Given the description of an element on the screen output the (x, y) to click on. 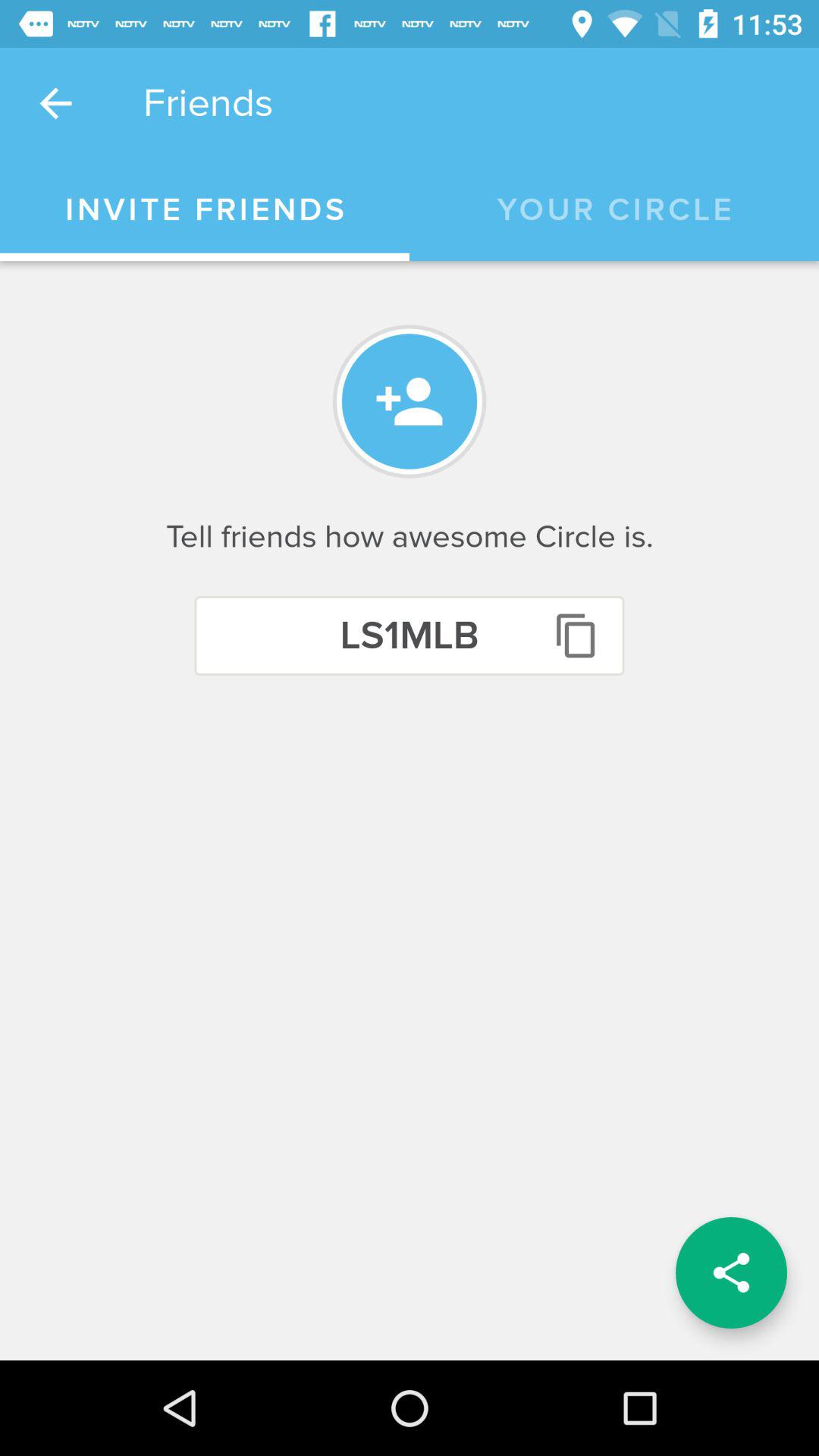
open icon at the bottom right corner (731, 1272)
